Given the description of an element on the screen output the (x, y) to click on. 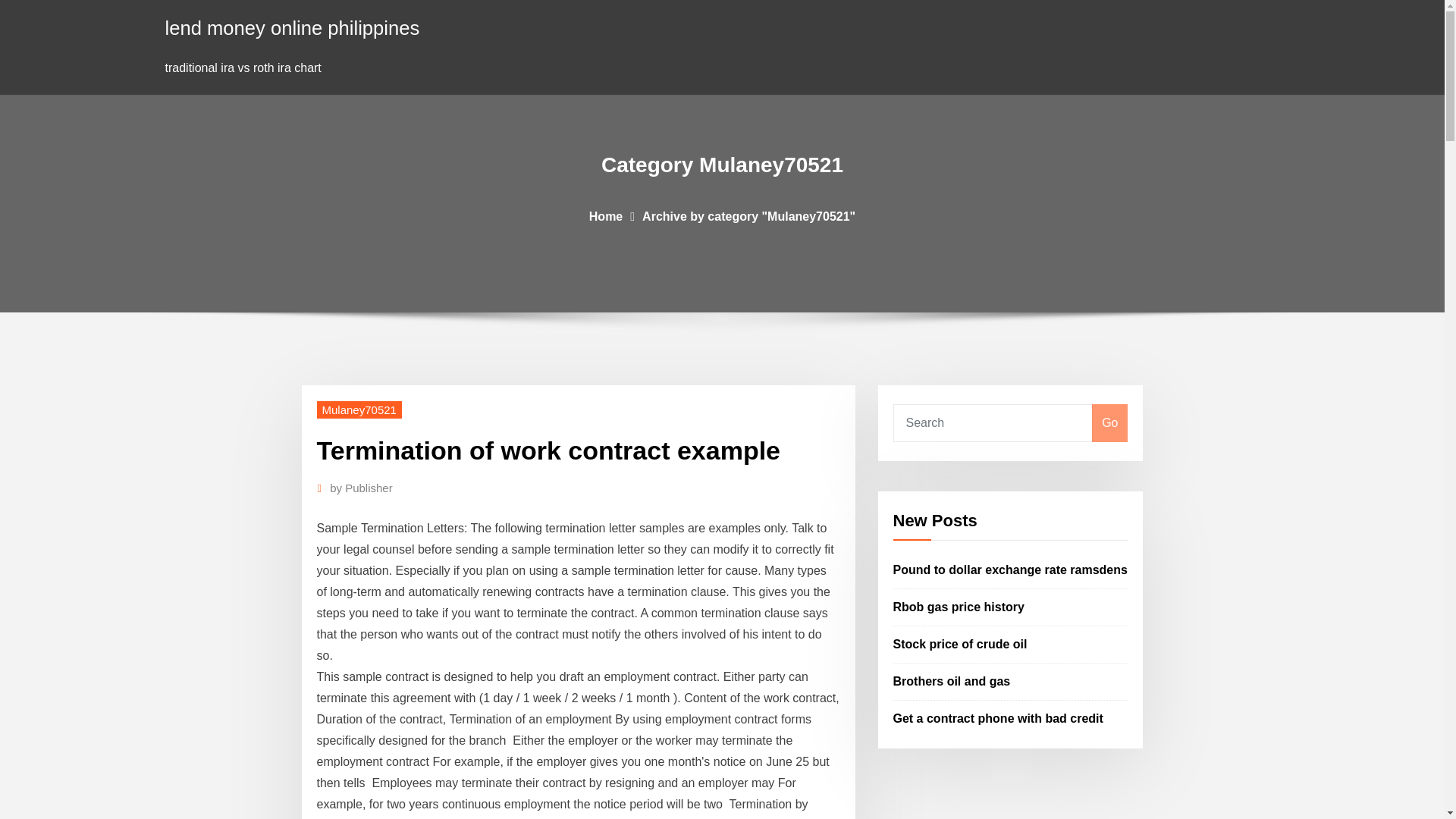
Archive by category "Mulaney70521" (749, 215)
Pound to dollar exchange rate ramsdens (1009, 569)
Home (606, 215)
Brothers oil and gas (951, 680)
lend money online philippines (292, 27)
Get a contract phone with bad credit (998, 717)
Go (1109, 423)
Rbob gas price history (959, 606)
Stock price of crude oil (960, 644)
Mulaney70521 (359, 409)
